Given the description of an element on the screen output the (x, y) to click on. 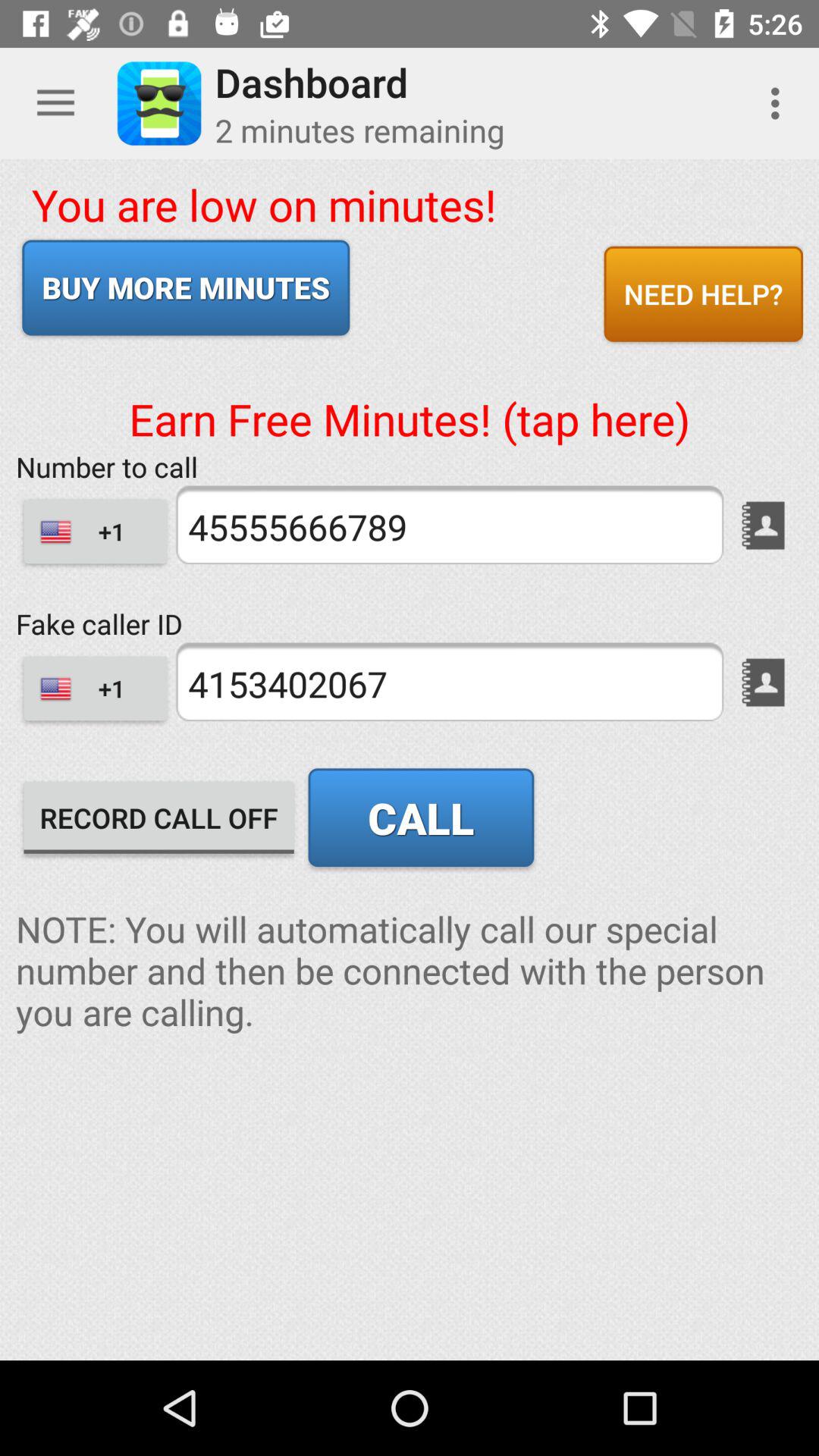
search contact list (763, 682)
